Given the description of an element on the screen output the (x, y) to click on. 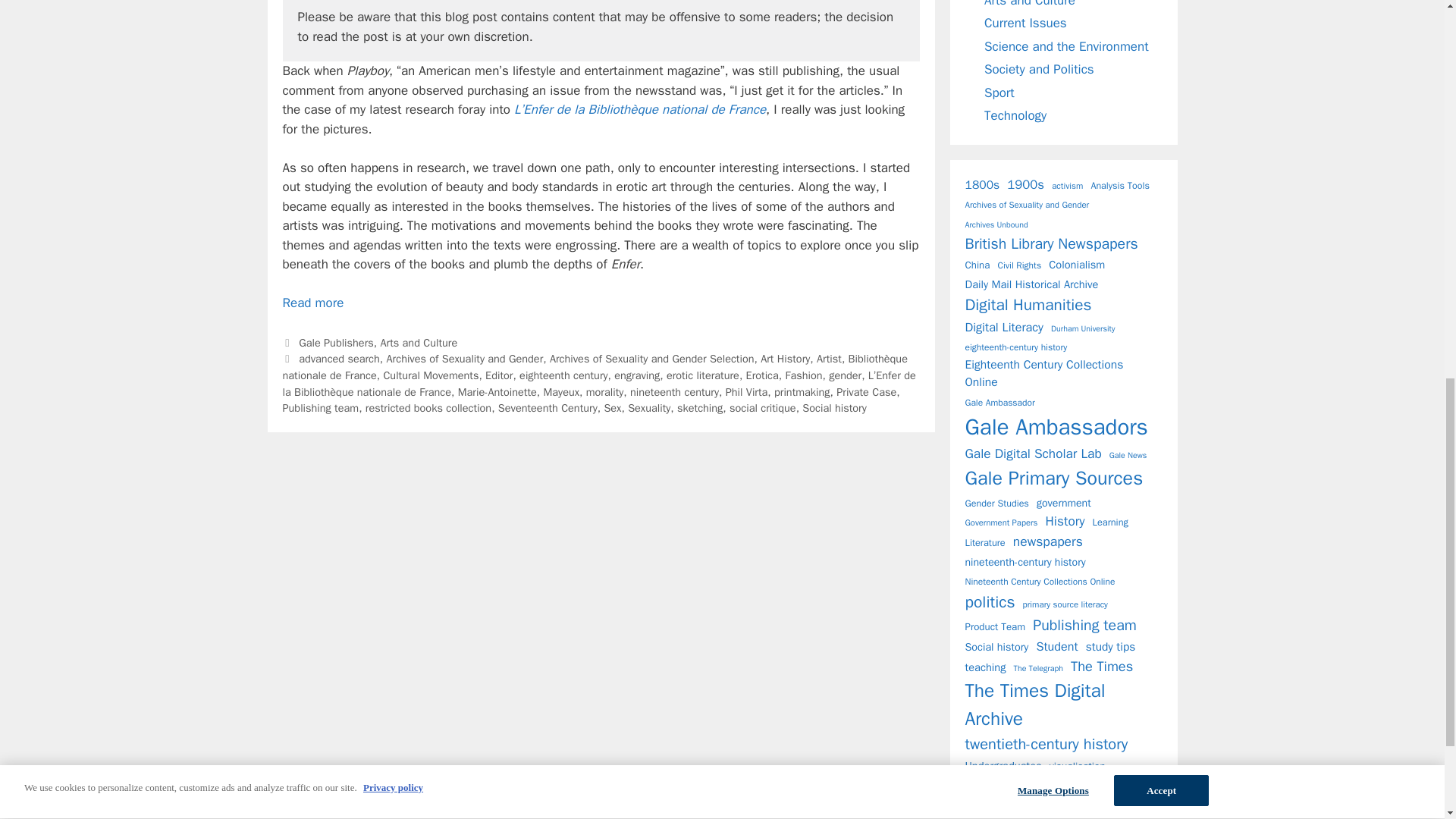
Erotica (761, 375)
printmaking (801, 391)
Gale Publishers (336, 342)
engraving (636, 375)
nineteenth century (674, 391)
Archives of Sexuality and Gender (465, 358)
eighteenth century (563, 375)
Art History (784, 358)
Read more (312, 302)
Cultural Movements (430, 375)
